Given the description of an element on the screen output the (x, y) to click on. 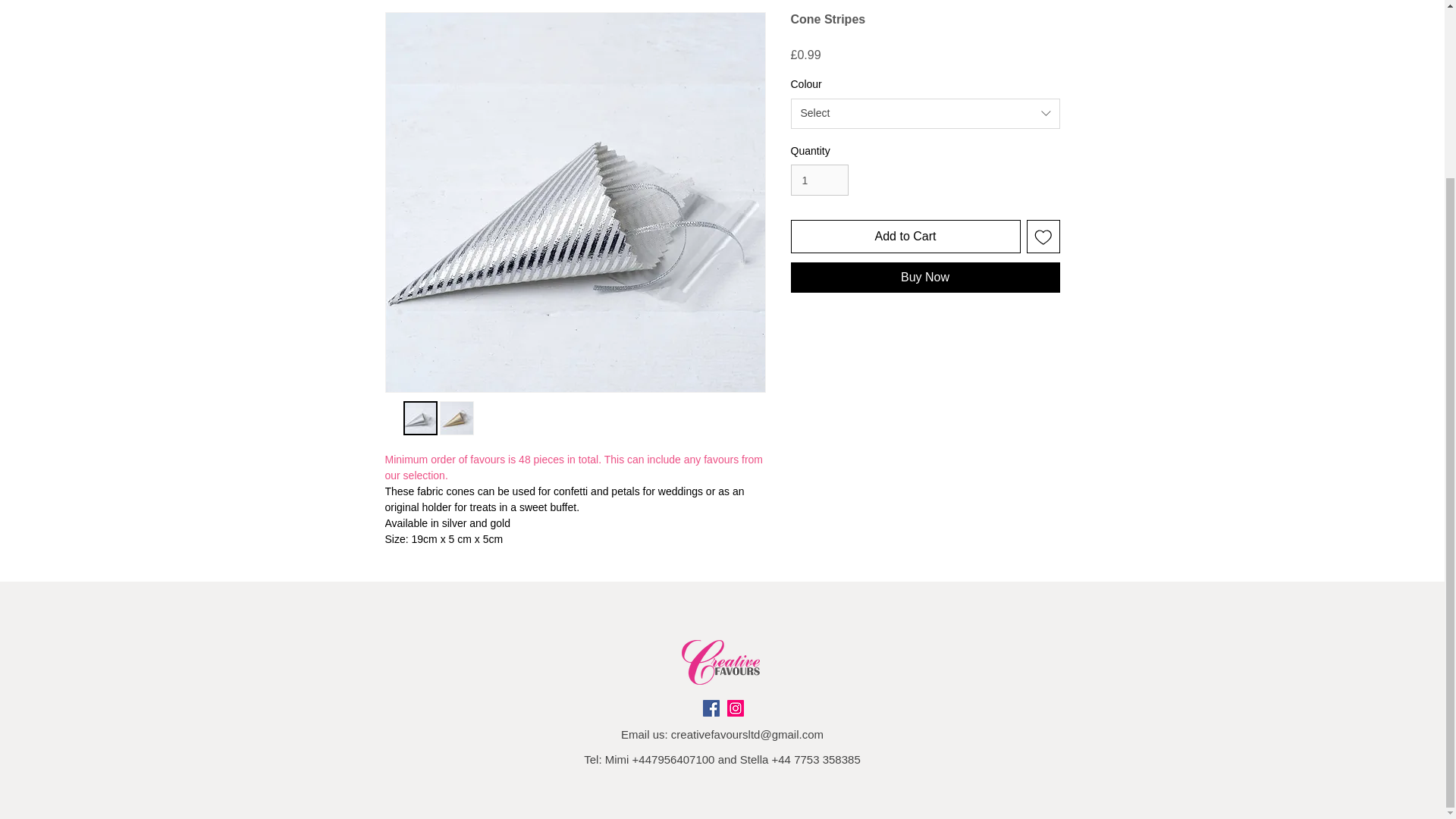
Add to Cart (905, 236)
Buy Now (924, 277)
Select (924, 113)
1 (818, 179)
